Given the description of an element on the screen output the (x, y) to click on. 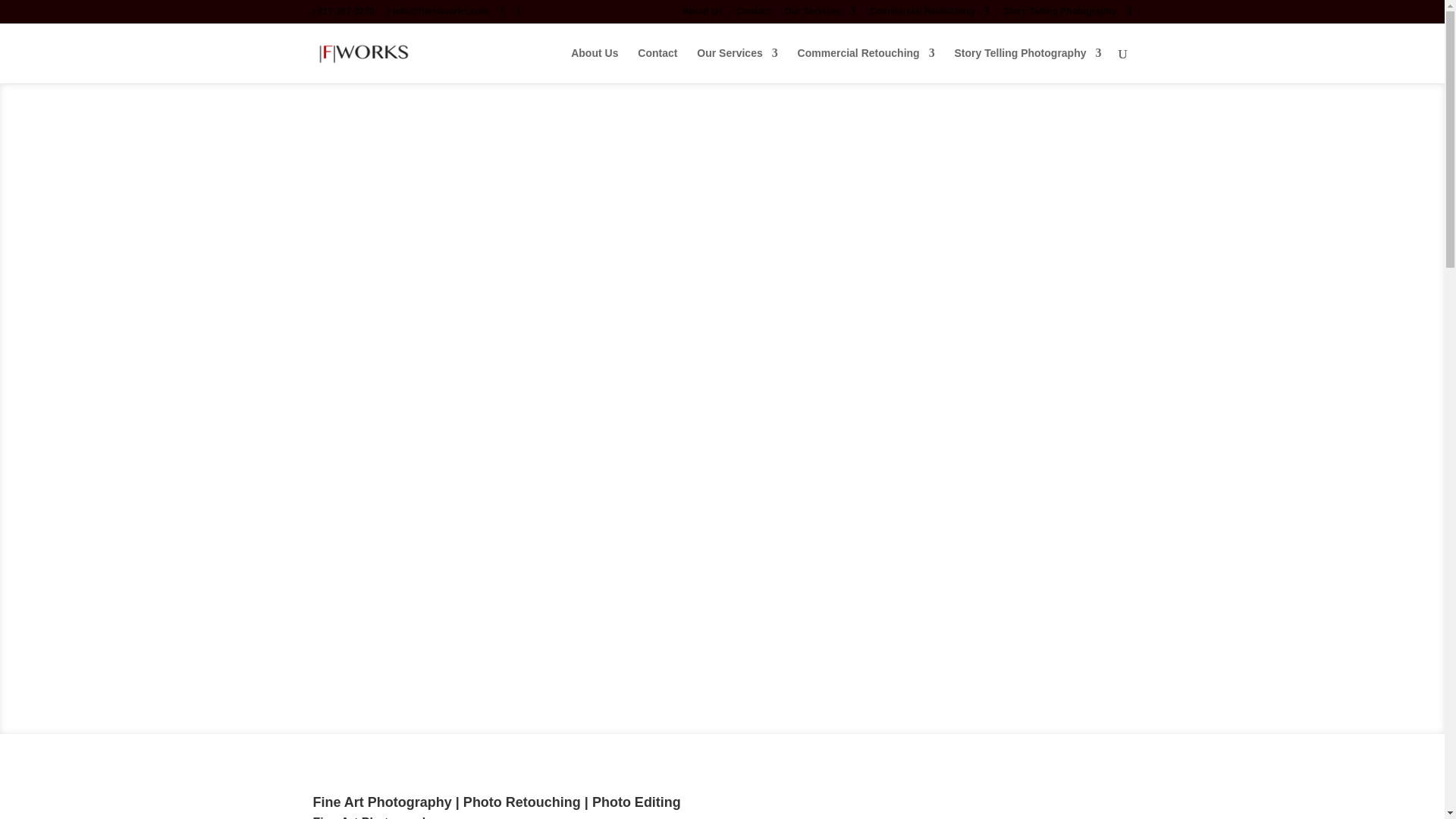
Contact (657, 65)
About Us (593, 65)
Our Services (737, 65)
Commercial Retouching (929, 14)
Commercial Retouching (865, 65)
Story Telling Photography (1067, 14)
About Us (702, 14)
Contact (753, 14)
Our Services (820, 14)
